Given the description of an element on the screen output the (x, y) to click on. 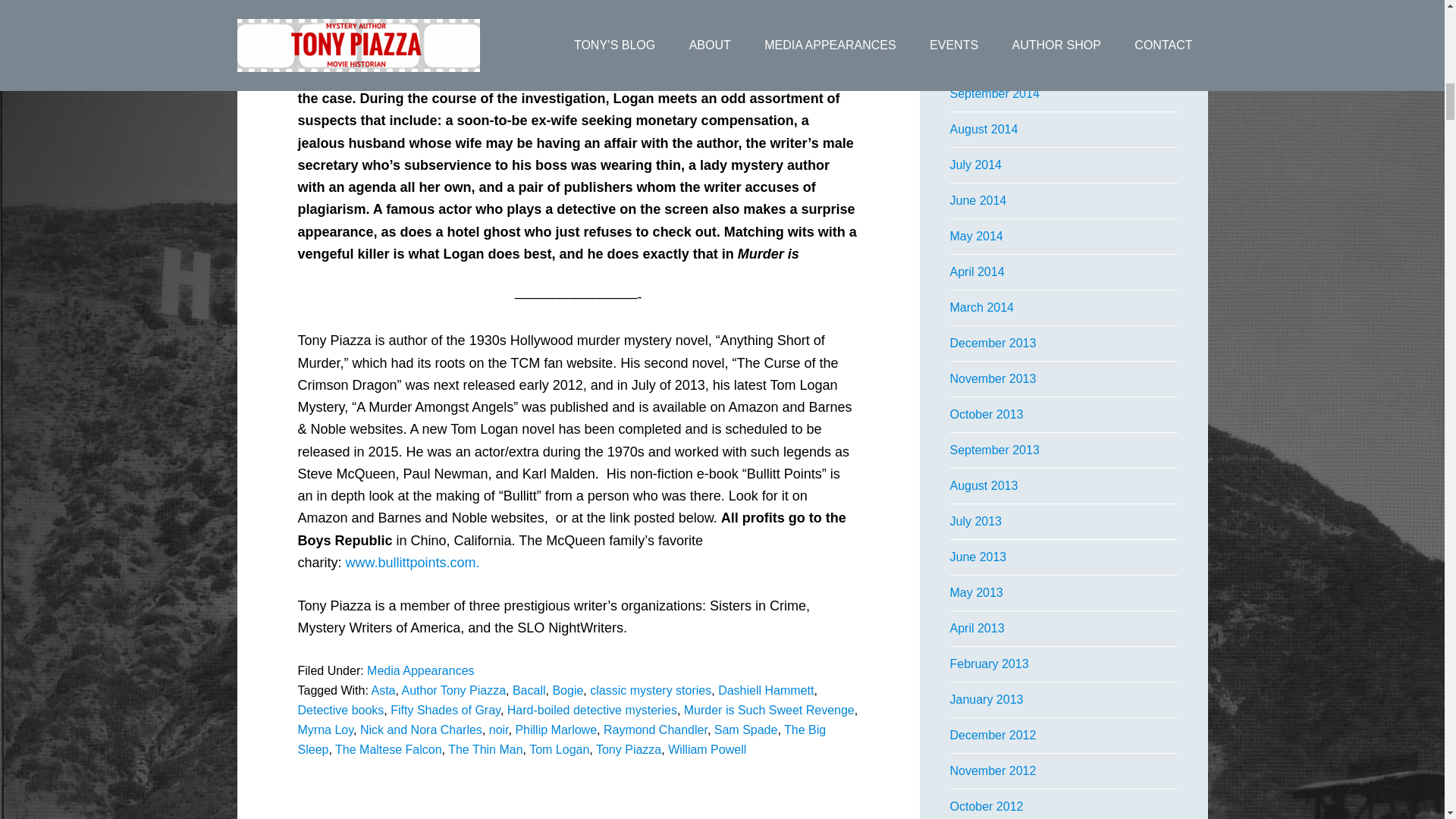
Bacall (529, 689)
Dashiell Hammett (765, 689)
Raymond Chandler (655, 729)
classic mystery stories (650, 689)
Phillip Marlowe (555, 729)
Nick and Nora Charles (420, 729)
The Maltese Falcon (388, 748)
Fifty Shades of Gray (445, 709)
Murder is Such Sweet Revenge (769, 709)
noir (498, 729)
